Given the description of an element on the screen output the (x, y) to click on. 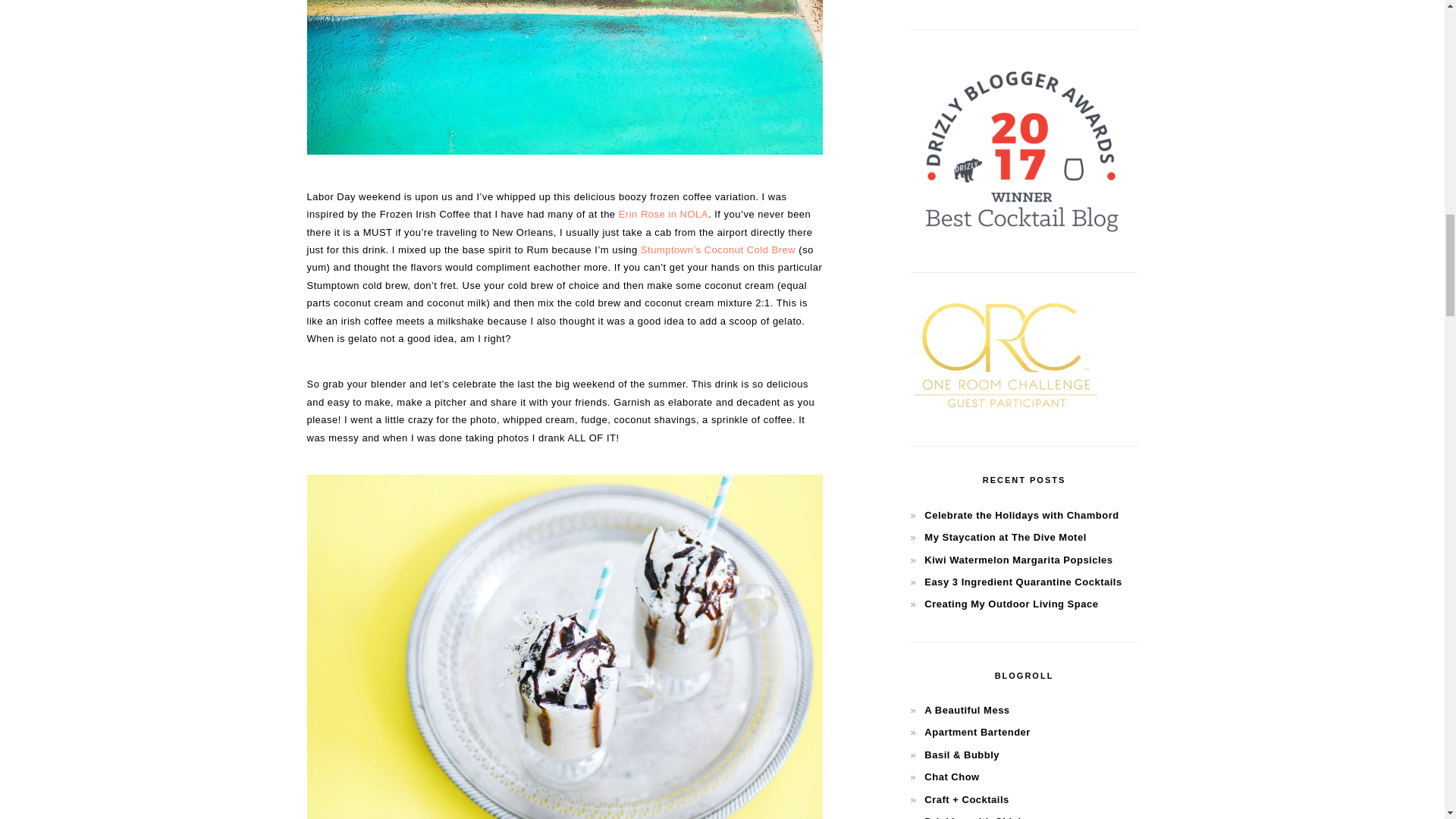
Erin Rose in NOLA (662, 214)
